Given the description of an element on the screen output the (x, y) to click on. 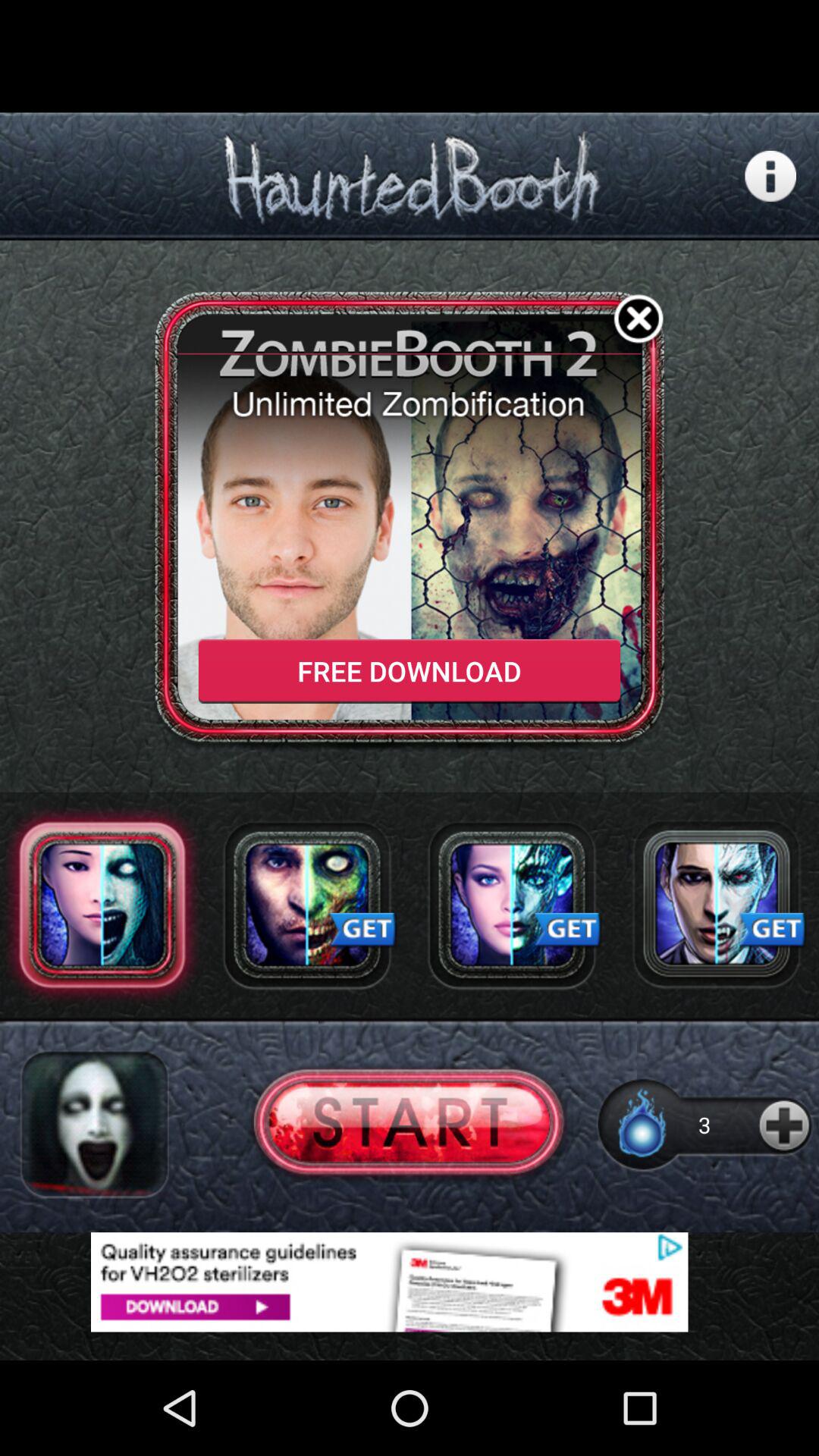
image page (306, 904)
